Given the description of an element on the screen output the (x, y) to click on. 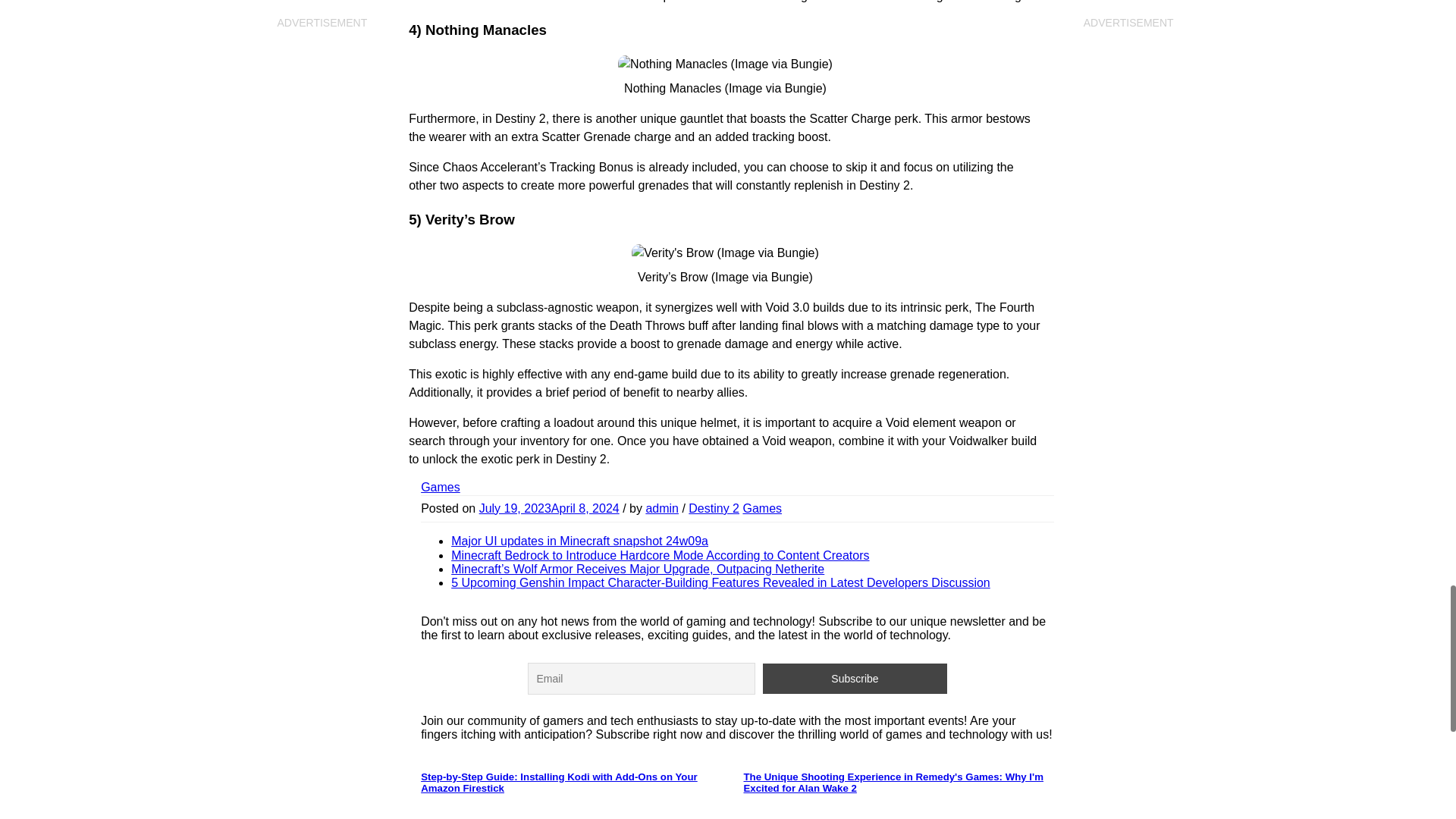
Major UI updates in Minecraft snapshot 24w09a (579, 540)
Subscribe (854, 678)
admin (661, 508)
Games (440, 486)
Subscribe (854, 678)
Destiny 2 (713, 508)
July 19, 2023April 8, 2024 (549, 508)
Games (761, 508)
